Given the description of an element on the screen output the (x, y) to click on. 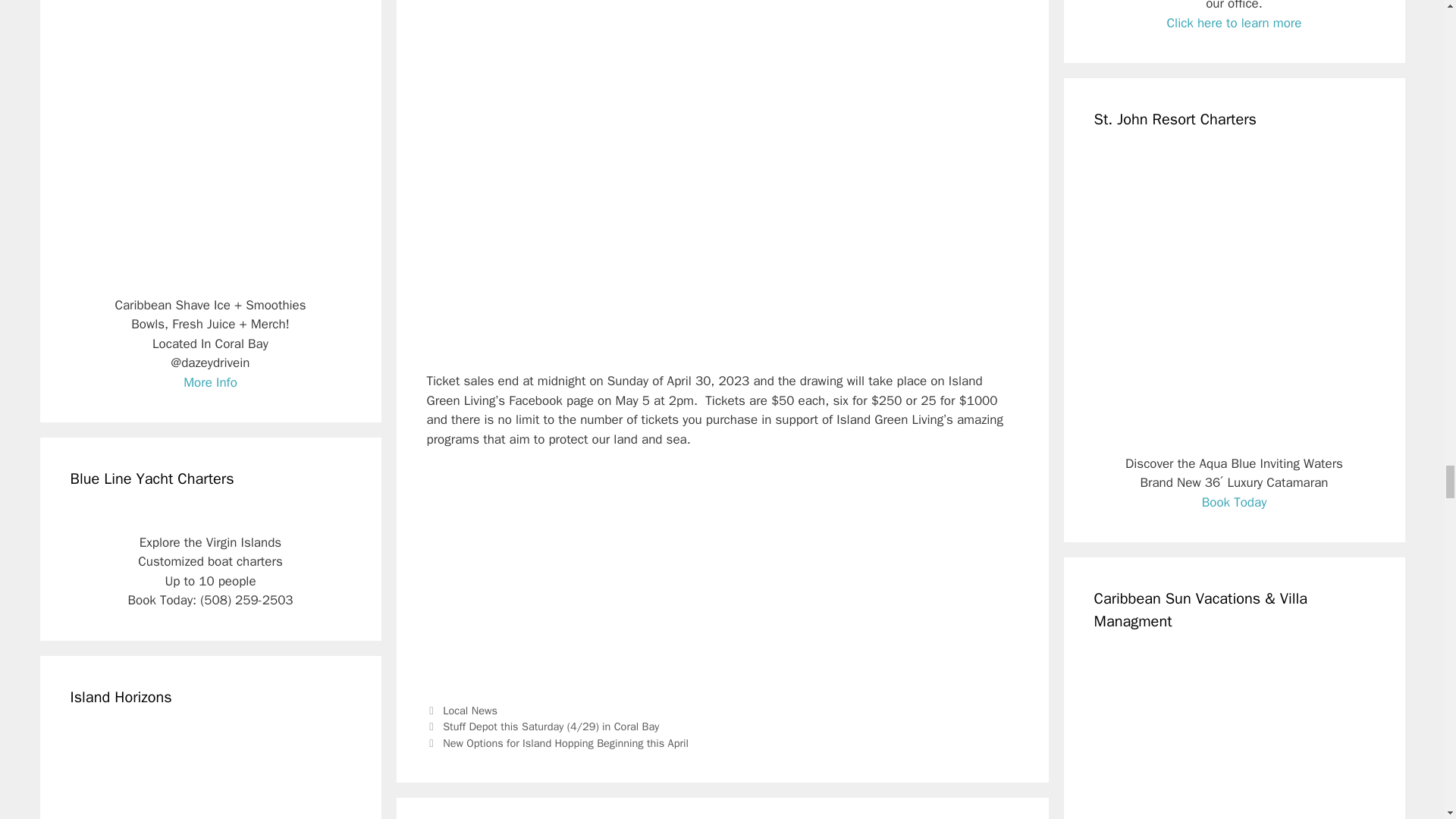
Next (556, 743)
Previous (542, 726)
